Given the description of an element on the screen output the (x, y) to click on. 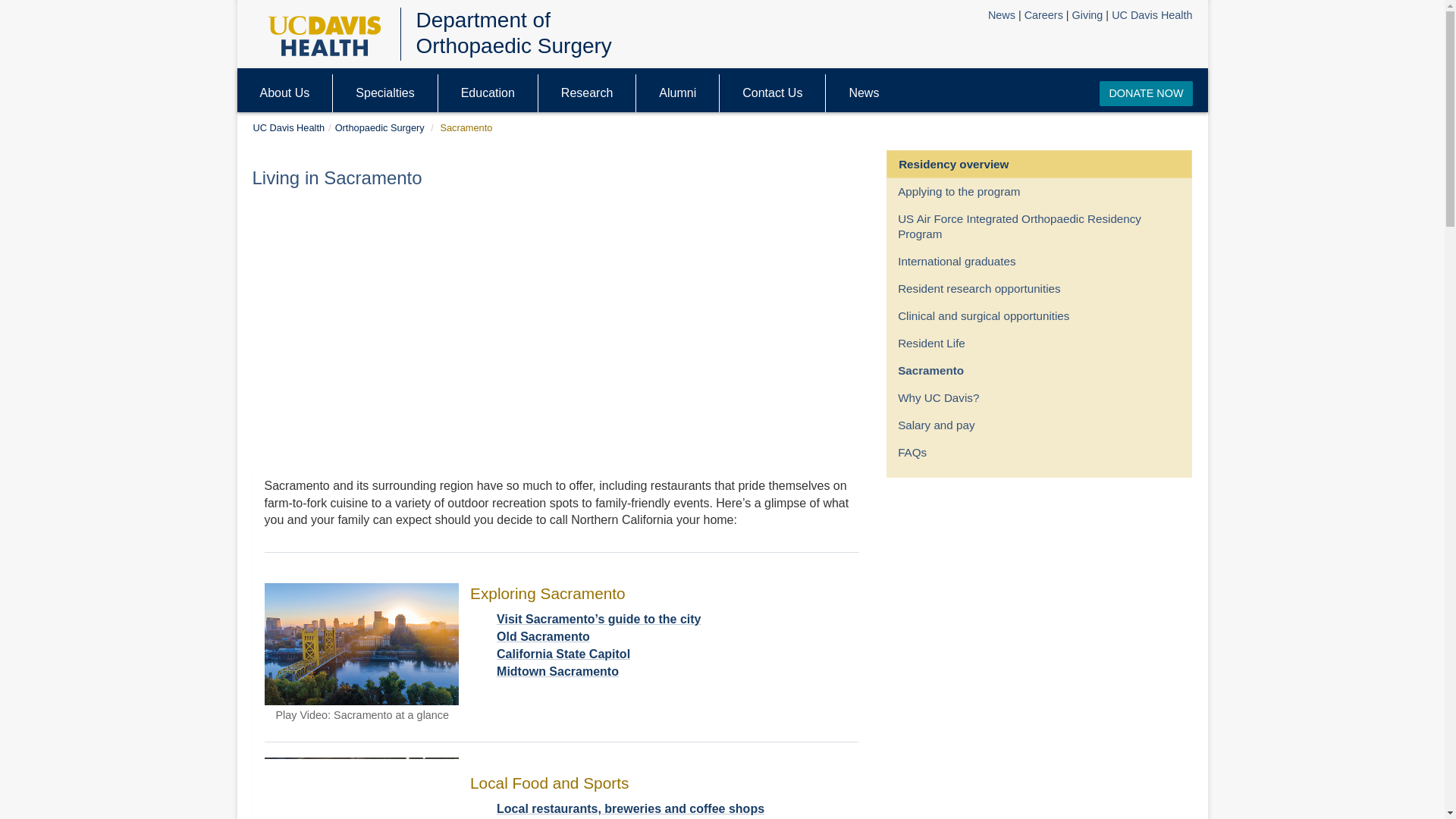
Giving (1087, 15)
News (1001, 15)
UC Davis Health (288, 127)
Specialties (384, 93)
Careers (1043, 15)
About Us (283, 93)
Education (487, 93)
